Given the description of an element on the screen output the (x, y) to click on. 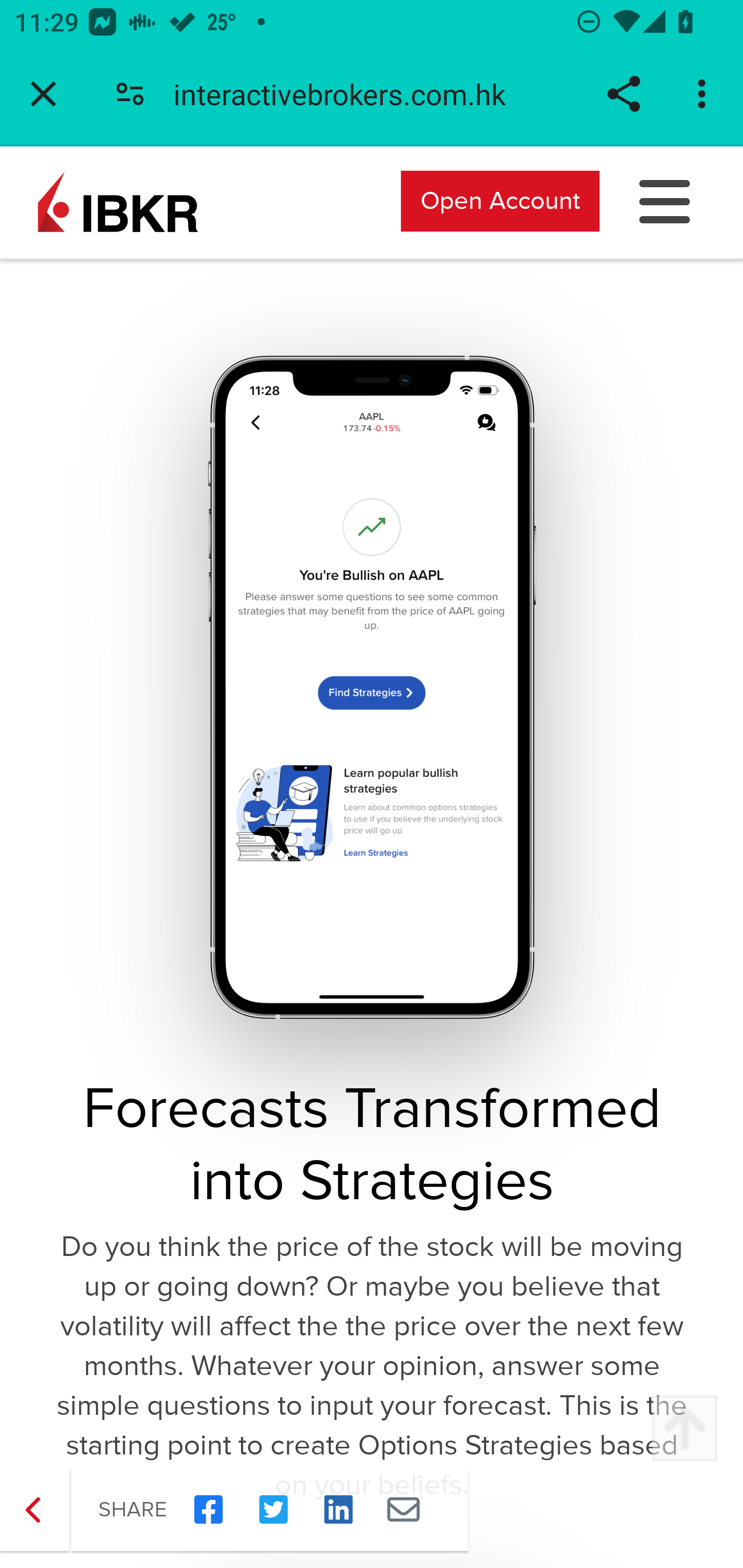
Close tab (43, 93)
Share (623, 93)
Customize and control Google Chrome (705, 93)
Connection is secure (129, 93)
interactivebrokers.com.hk (346, 93)
Interactive Brokers Home (117, 200)
Open Account (500, 200)
Toggle Navigation (665, 200)
To Top (684, 1428)
Share on Facebook  (208, 1509)
Share on Twitter  (272, 1509)
Share on Linkedin  (338, 1509)
Share by Email  (403, 1509)
